Given the description of an element on the screen output the (x, y) to click on. 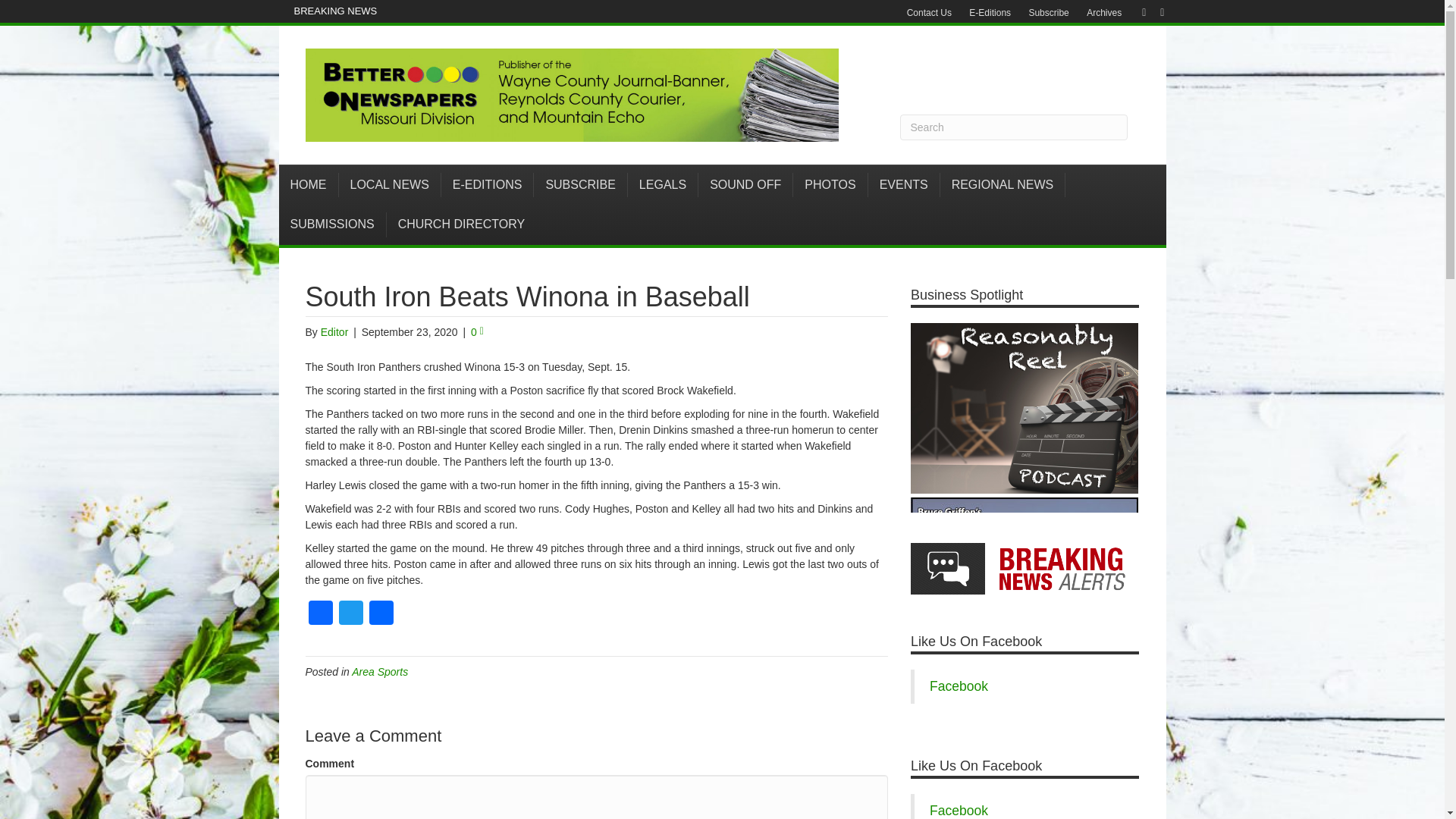
Facebook (1135, 11)
HOME (309, 184)
Contact Us (929, 13)
Twitter (349, 614)
Email (1154, 11)
E-EDITIONS (487, 184)
LOCAL NEWS (389, 184)
Facebook (319, 614)
Type and press Enter to search. (1012, 127)
Subscribe (1047, 13)
Archives (1103, 13)
E-Editions (988, 13)
